Given the description of an element on the screen output the (x, y) to click on. 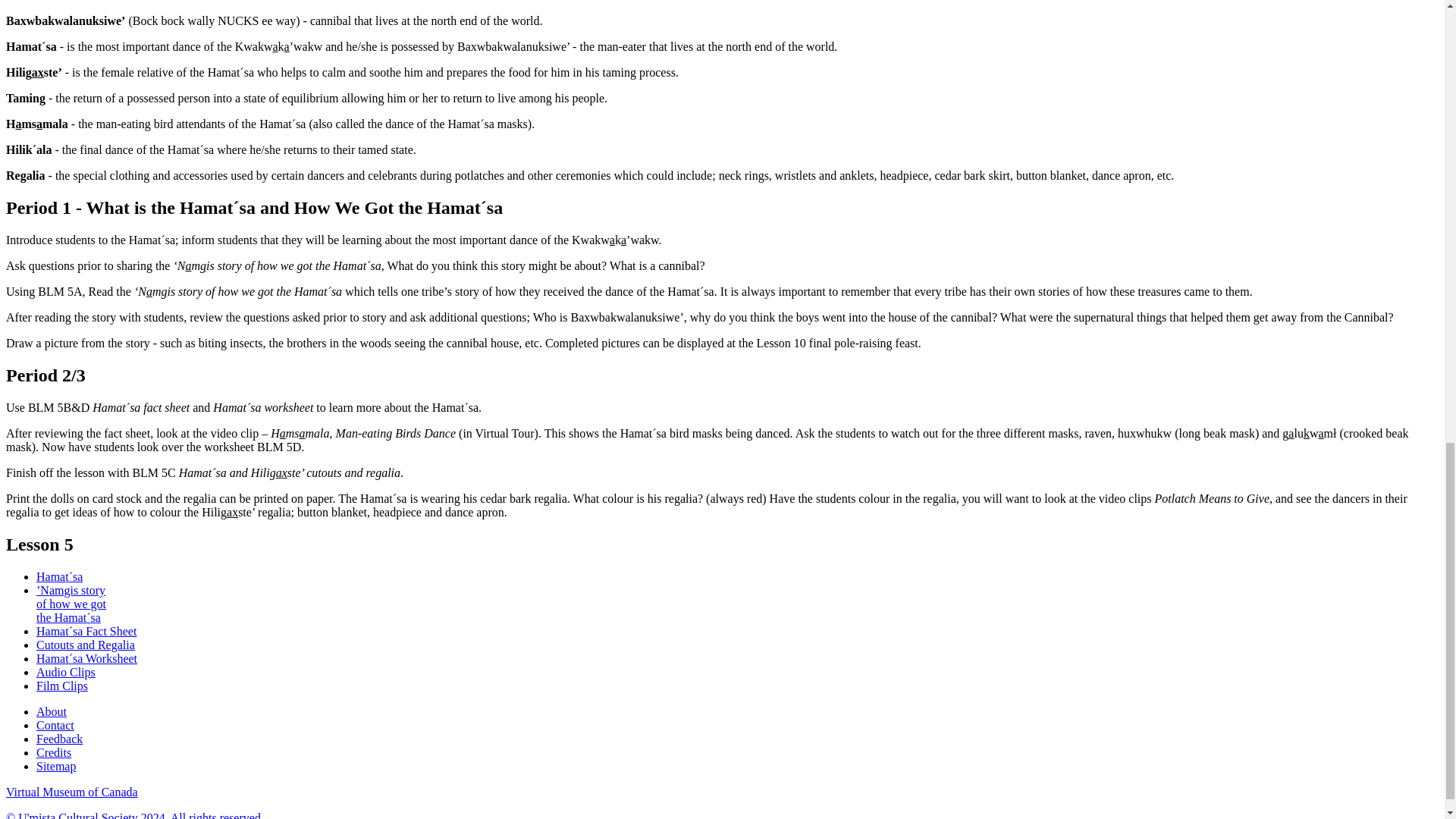
Cutouts and Regalia (85, 644)
Film Clips (61, 685)
Audio Clips (66, 671)
